Given the description of an element on the screen output the (x, y) to click on. 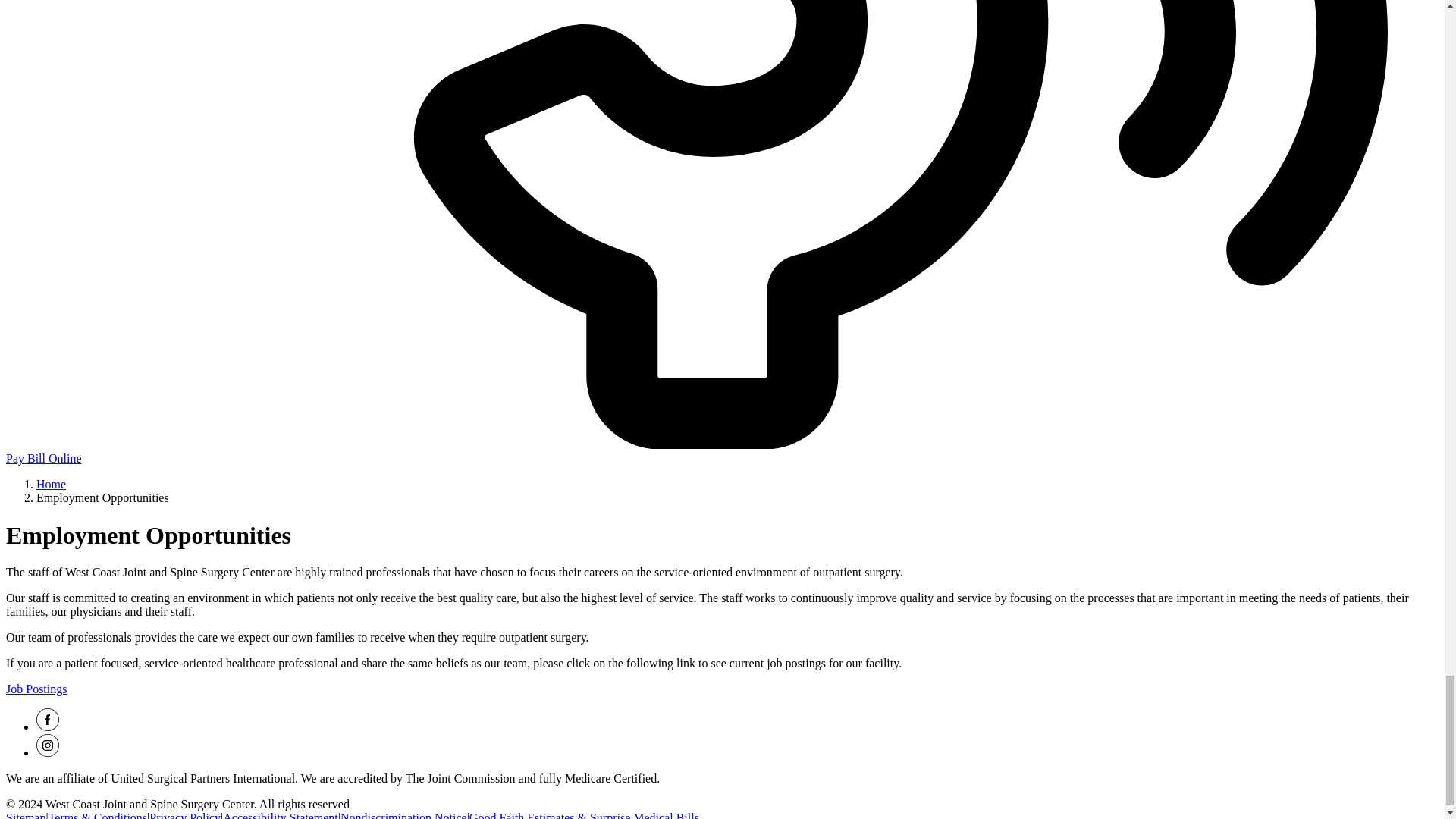
6623FE72-E277-400B-8FE1-1D4F4ACE9857 (47, 719)
Home (50, 483)
E678487E-5E28-4B7F-9849-76D4727C00E4 (47, 744)
6623FE72-E277-400B-8FE1-1D4F4ACE9857 (47, 726)
Job Postings (35, 688)
E678487E-5E28-4B7F-9849-76D4727C00E4 (47, 752)
